Given the description of an element on the screen output the (x, y) to click on. 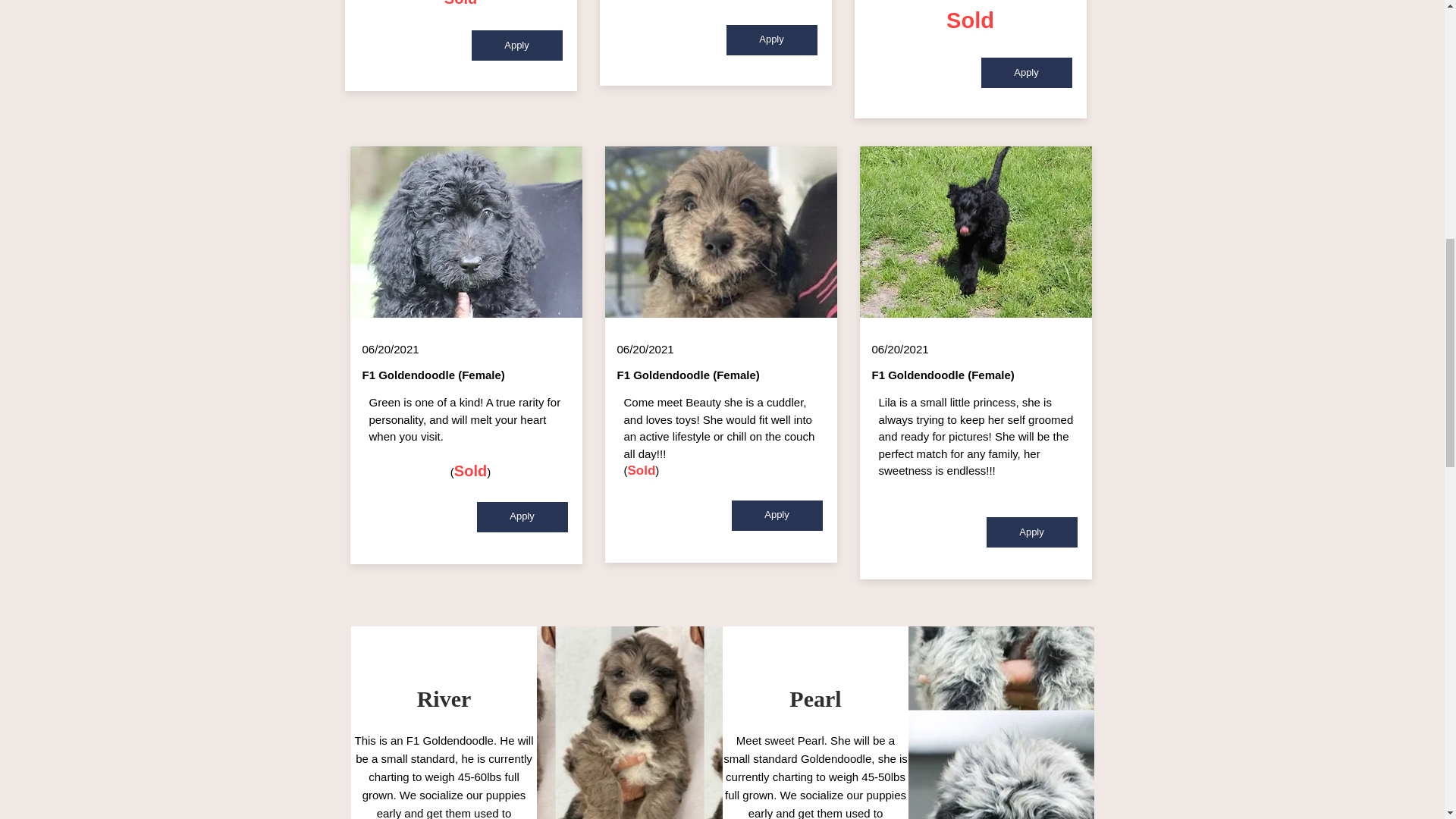
Apply (1026, 72)
Apply (1031, 531)
Apply (771, 39)
Apply (521, 517)
Apply (516, 45)
Apply (776, 515)
